Given the description of an element on the screen output the (x, y) to click on. 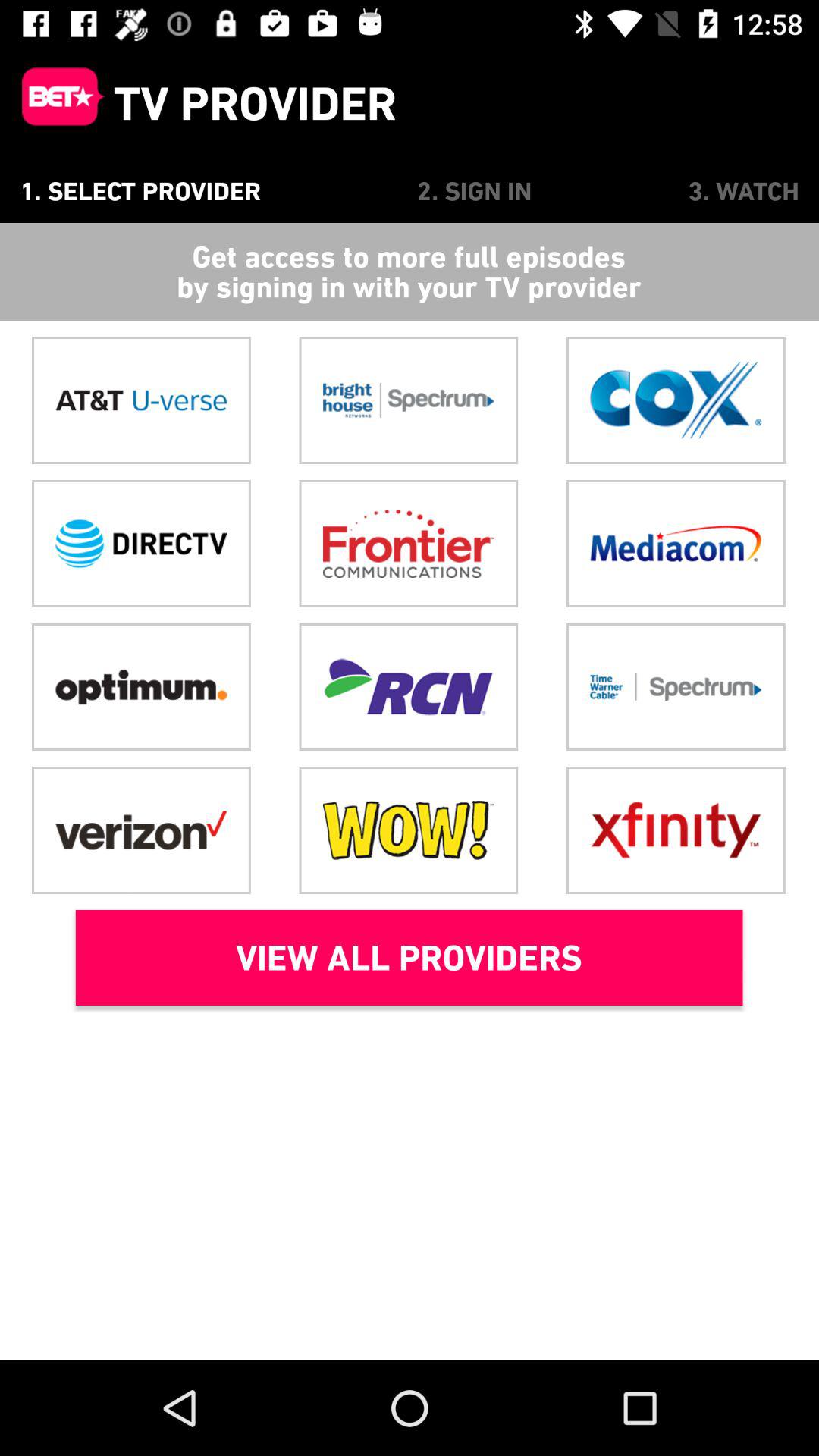
open the item to the left of the tv provider (56, 103)
